Given the description of an element on the screen output the (x, y) to click on. 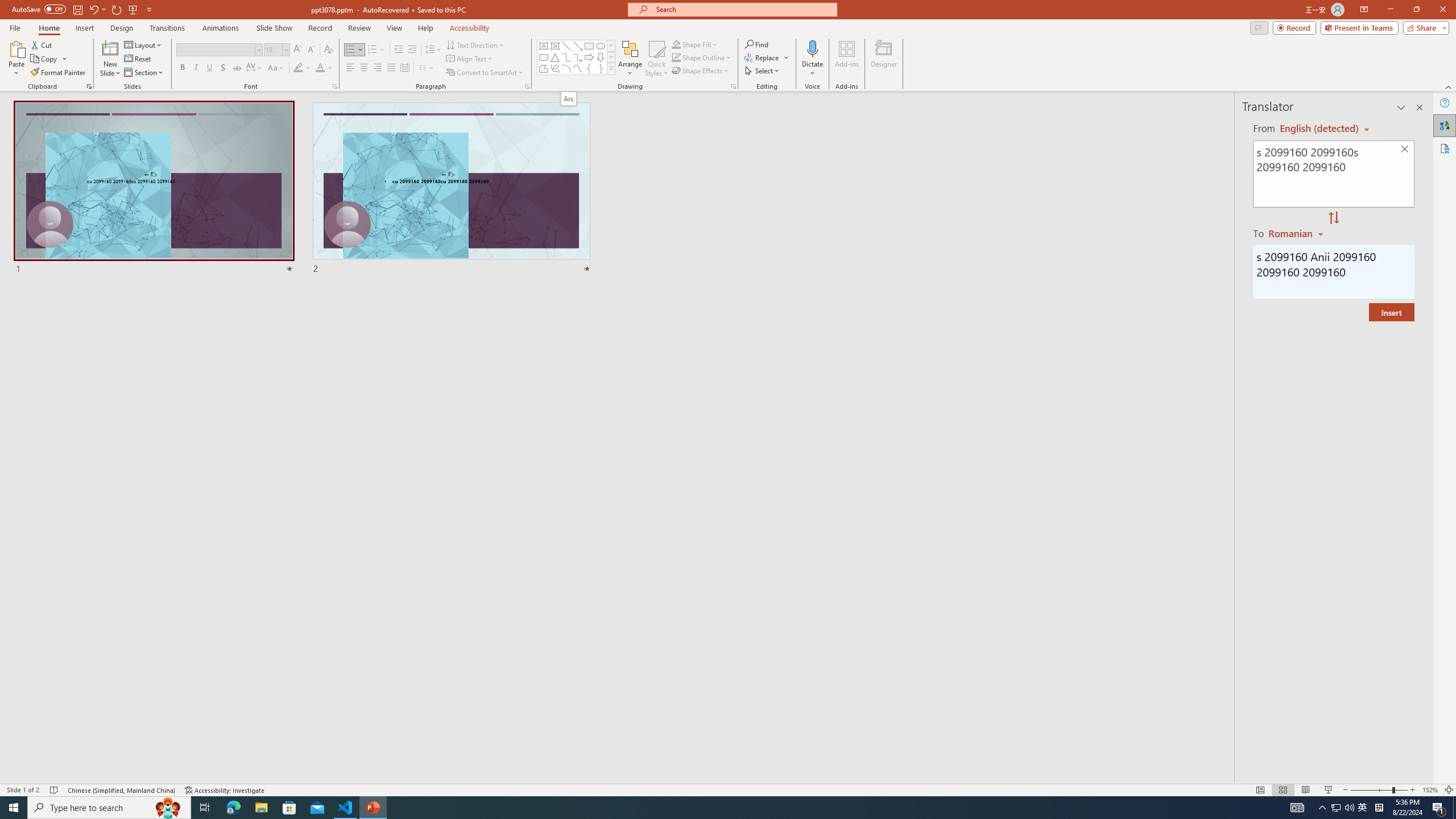
Center (363, 67)
Vertical Text Box (554, 45)
Increase Indent (412, 49)
Columns (426, 67)
Align Right (377, 67)
Convert to SmartArt (485, 72)
Isosceles Triangle (554, 57)
Text Box (543, 45)
